Given the description of an element on the screen output the (x, y) to click on. 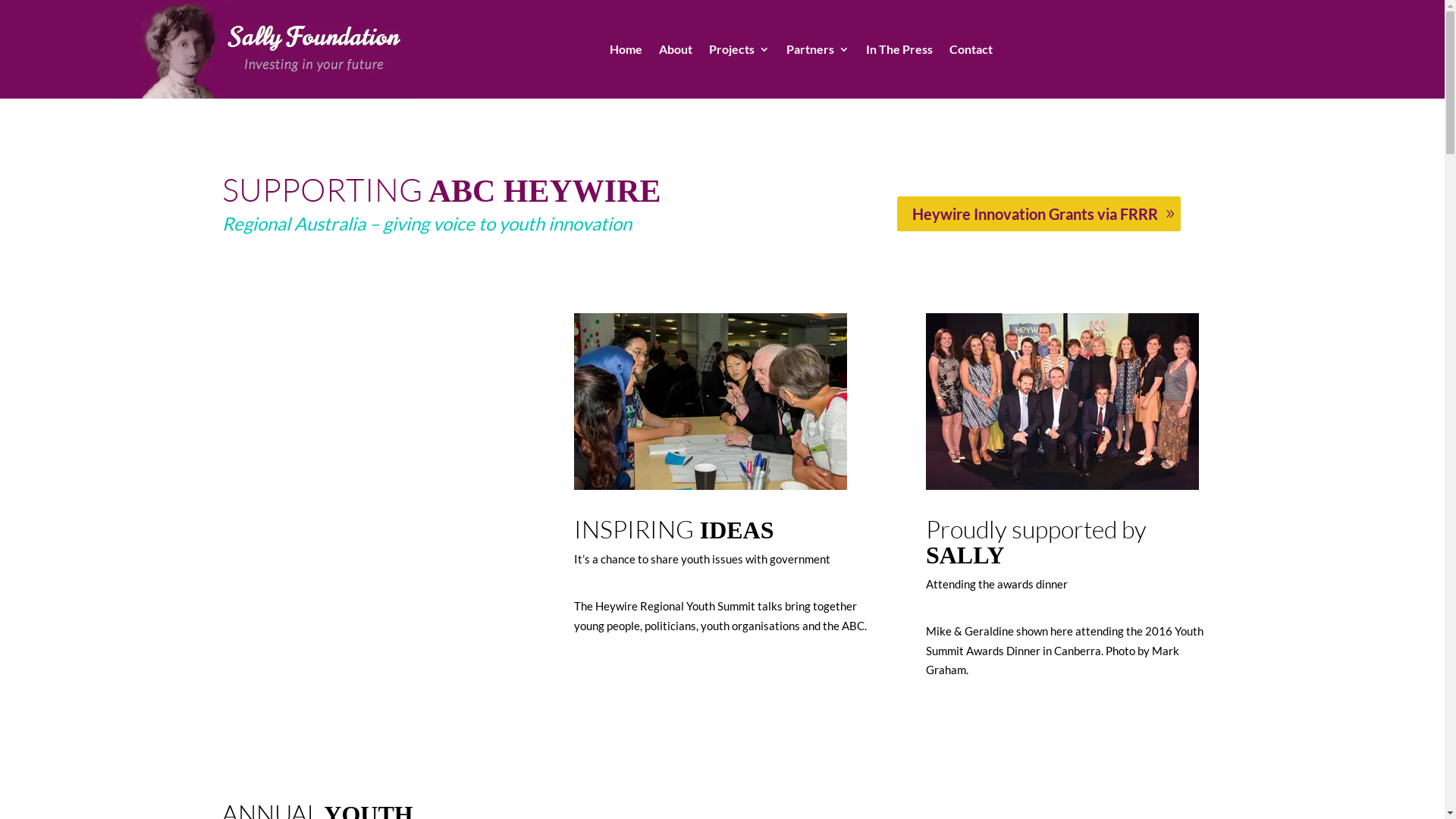
sally-foundation-logo1 Element type: hover (265, 49)
Projects Element type: text (739, 51)
Partners Element type: text (817, 51)
In The Press Element type: text (899, 51)
Contact Element type: text (970, 51)
About Element type: text (675, 51)
2016-abc-heywire-awards1 Element type: hover (1061, 401)
2017 Heywire Regional Youth Summit Element type: hover (369, 543)
Home Element type: text (625, 51)
Heywire Innovation Grants via FRRR Element type: text (1038, 213)
cafe-talks-at-abc-heywire Element type: hover (710, 401)
